Given the description of an element on the screen output the (x, y) to click on. 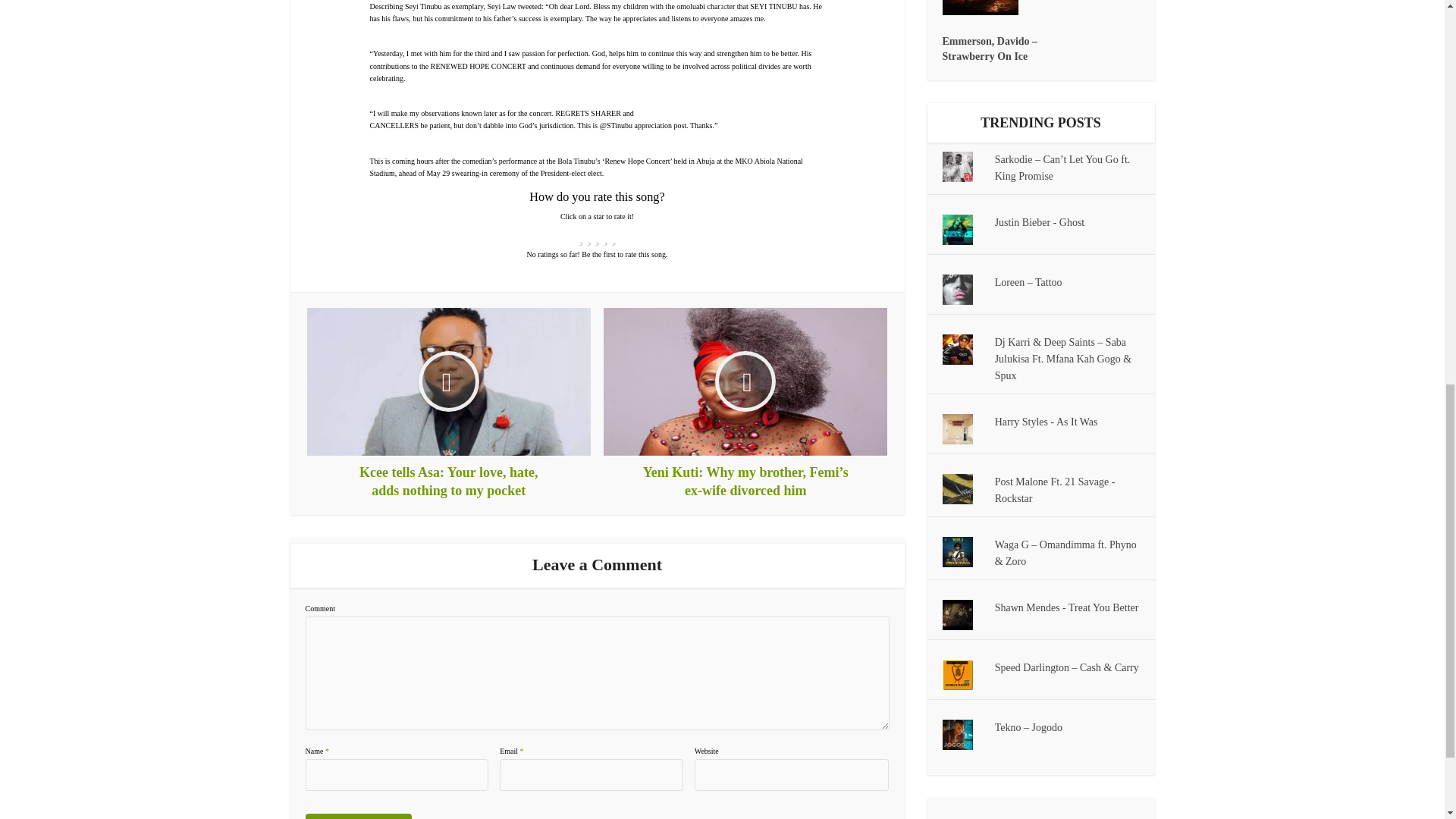
Post Comment (357, 816)
Kcee tells Asa: Your love, hate, adds nothing to my pocket (449, 403)
Post Comment (357, 816)
